Given the description of an element on the screen output the (x, y) to click on. 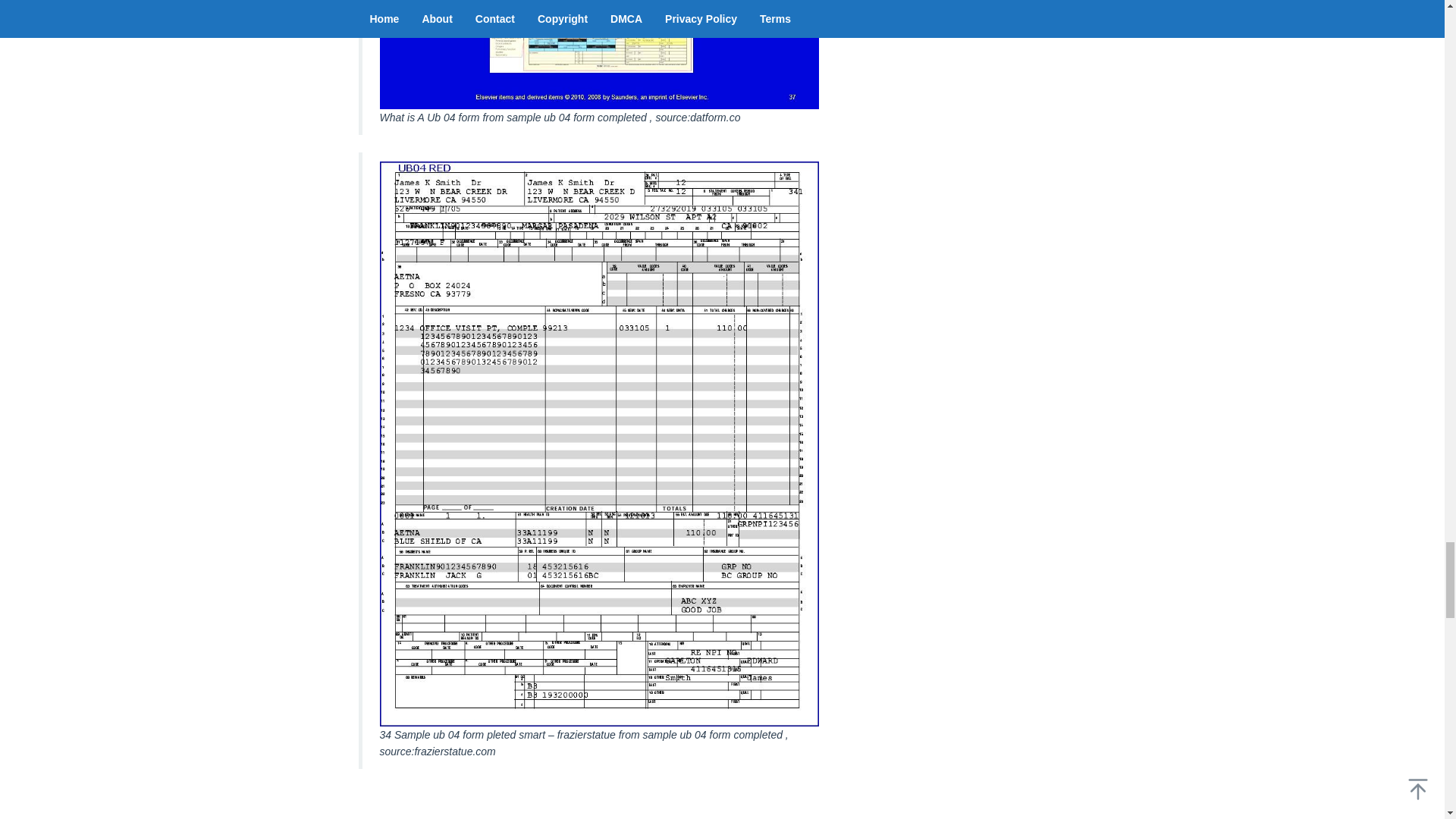
What is A Ub 04 form (598, 54)
